Given the description of an element on the screen output the (x, y) to click on. 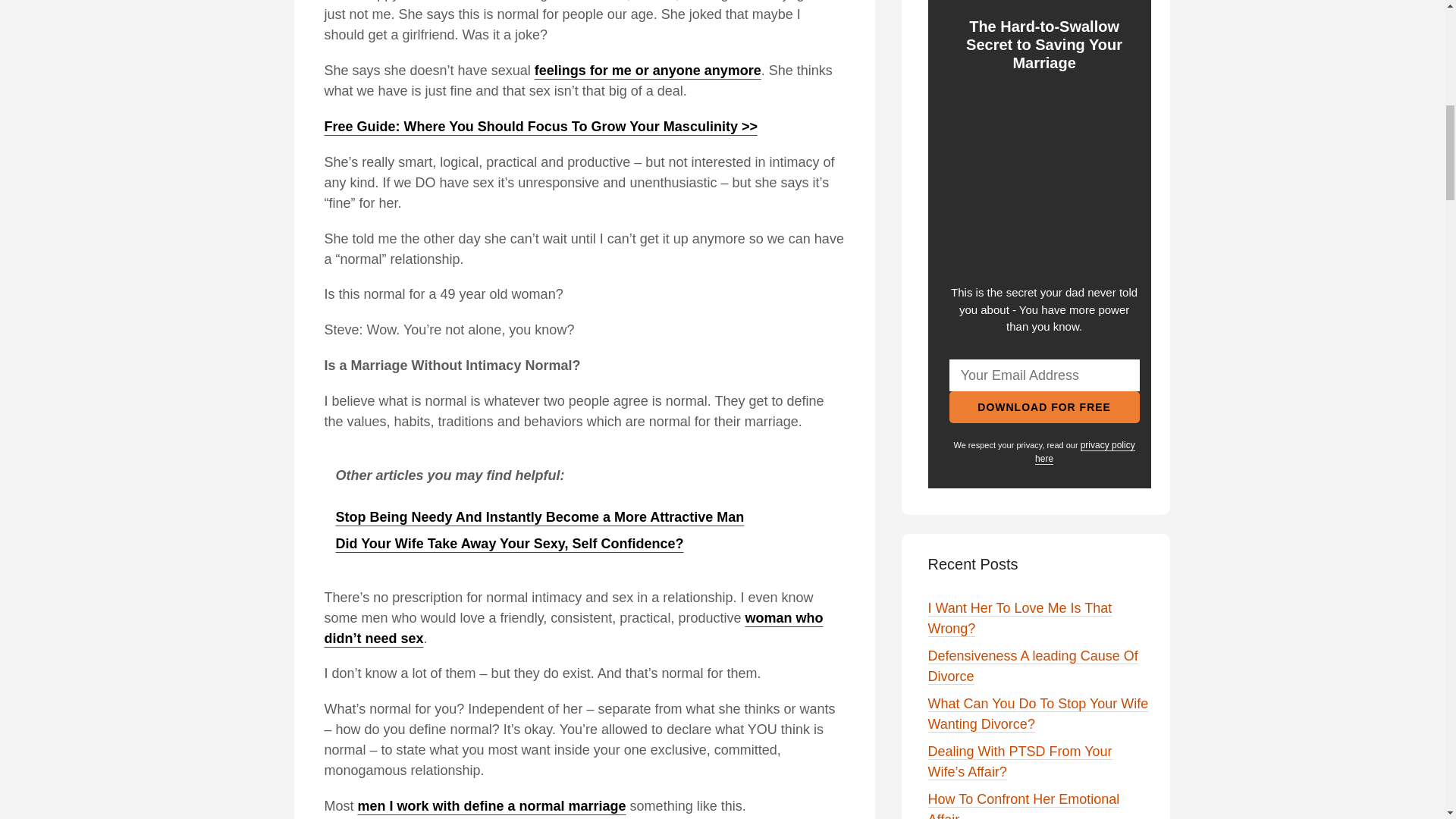
Privacy Policy (1085, 452)
Download for Free (1044, 407)
